Given the description of an element on the screen output the (x, y) to click on. 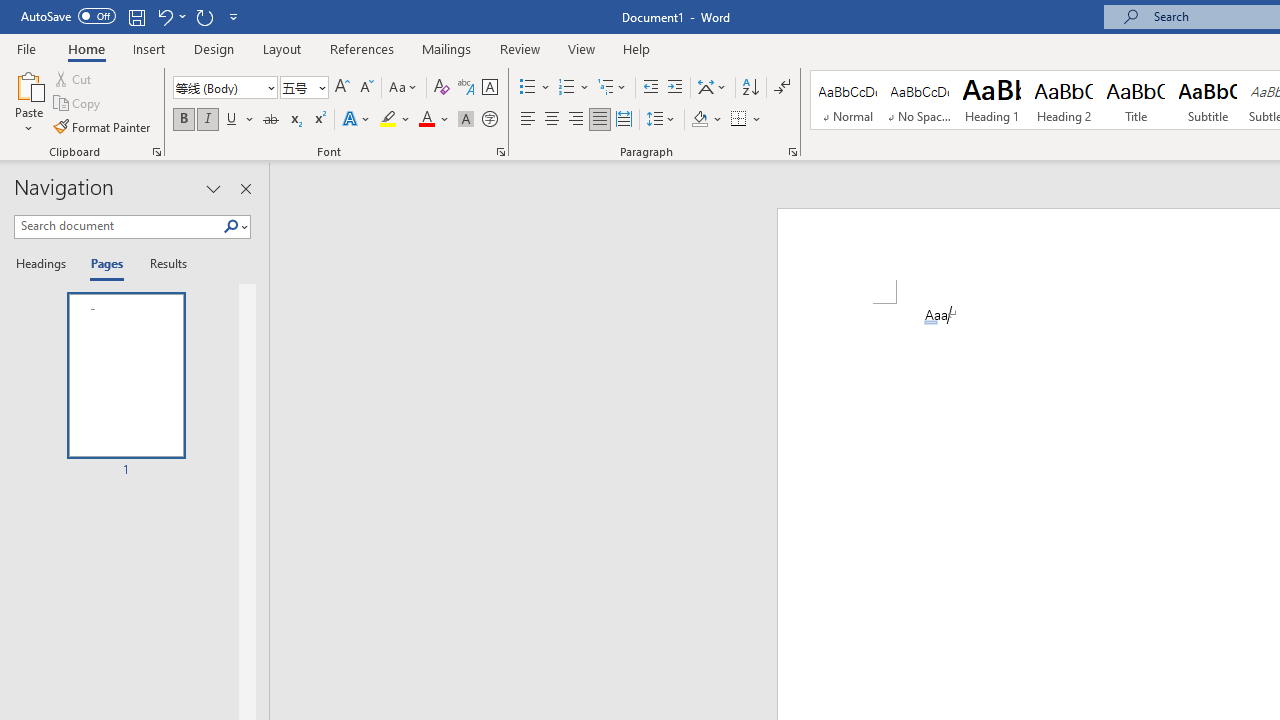
Undo Apply Quick Style (170, 15)
Heading 1 (991, 100)
